Given the description of an element on the screen output the (x, y) to click on. 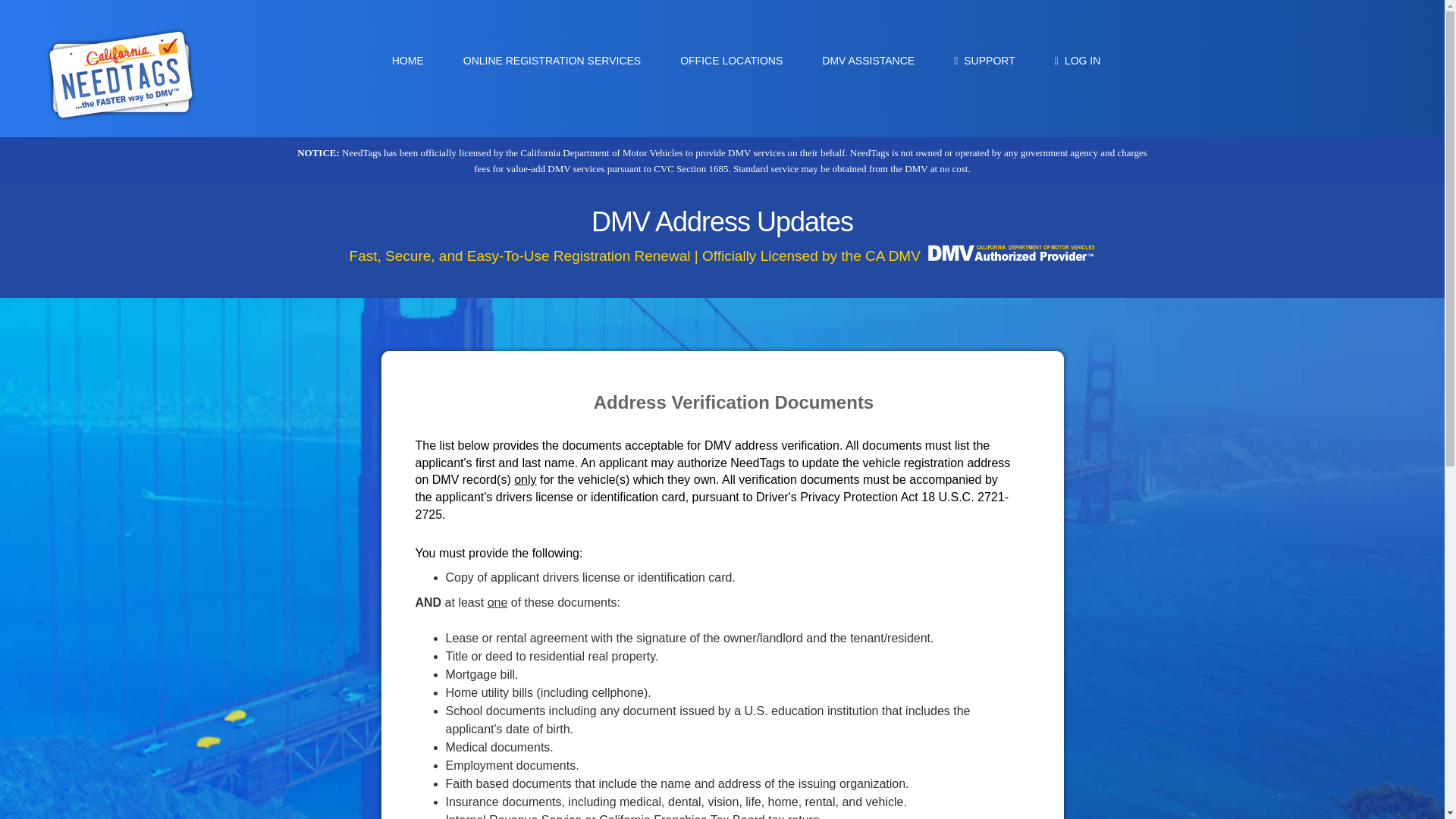
DMV ASSISTANCE (868, 60)
HOME (408, 60)
OFFICE LOCATIONS (731, 60)
SUPPORT (984, 60)
LOG IN (1077, 60)
ONLINE REGISTRATION SERVICES (552, 60)
